Given the description of an element on the screen output the (x, y) to click on. 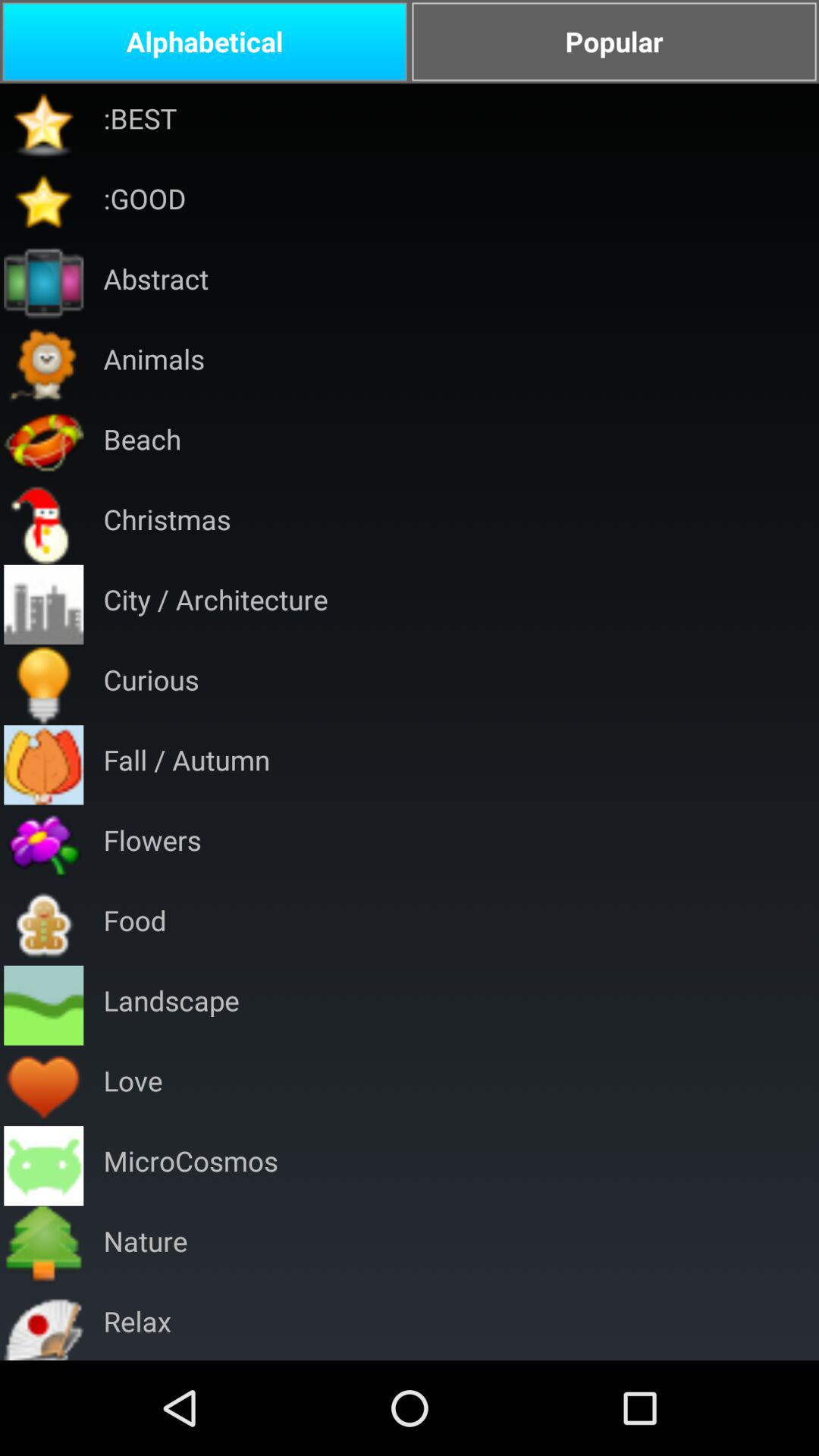
click the relax item (137, 1323)
